Given the description of an element on the screen output the (x, y) to click on. 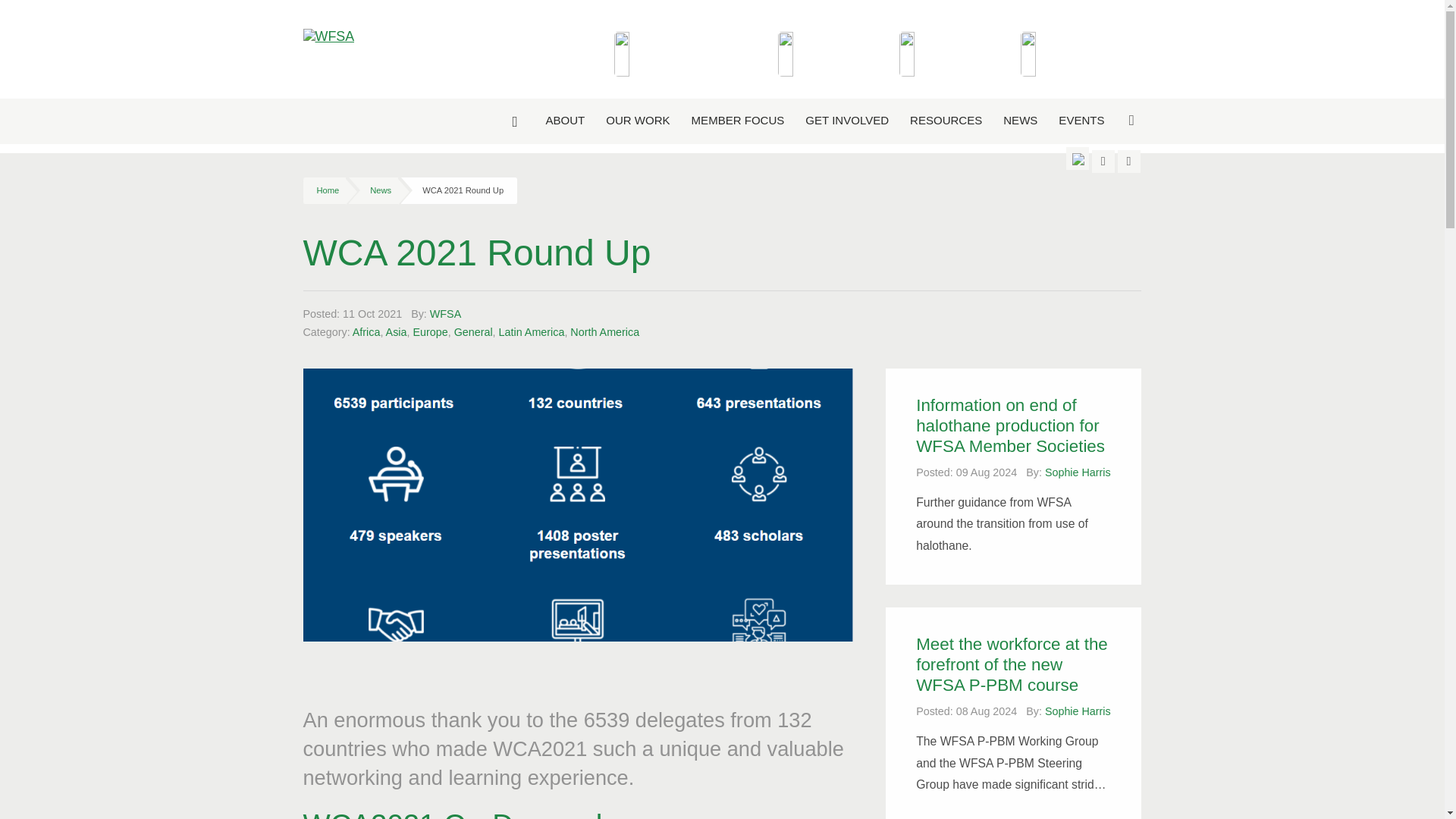
Go to WFSA. (327, 189)
ABOUT (564, 119)
OUR WORK (637, 119)
Go to News. (380, 189)
WFSA (322, 64)
